Given the description of an element on the screen output the (x, y) to click on. 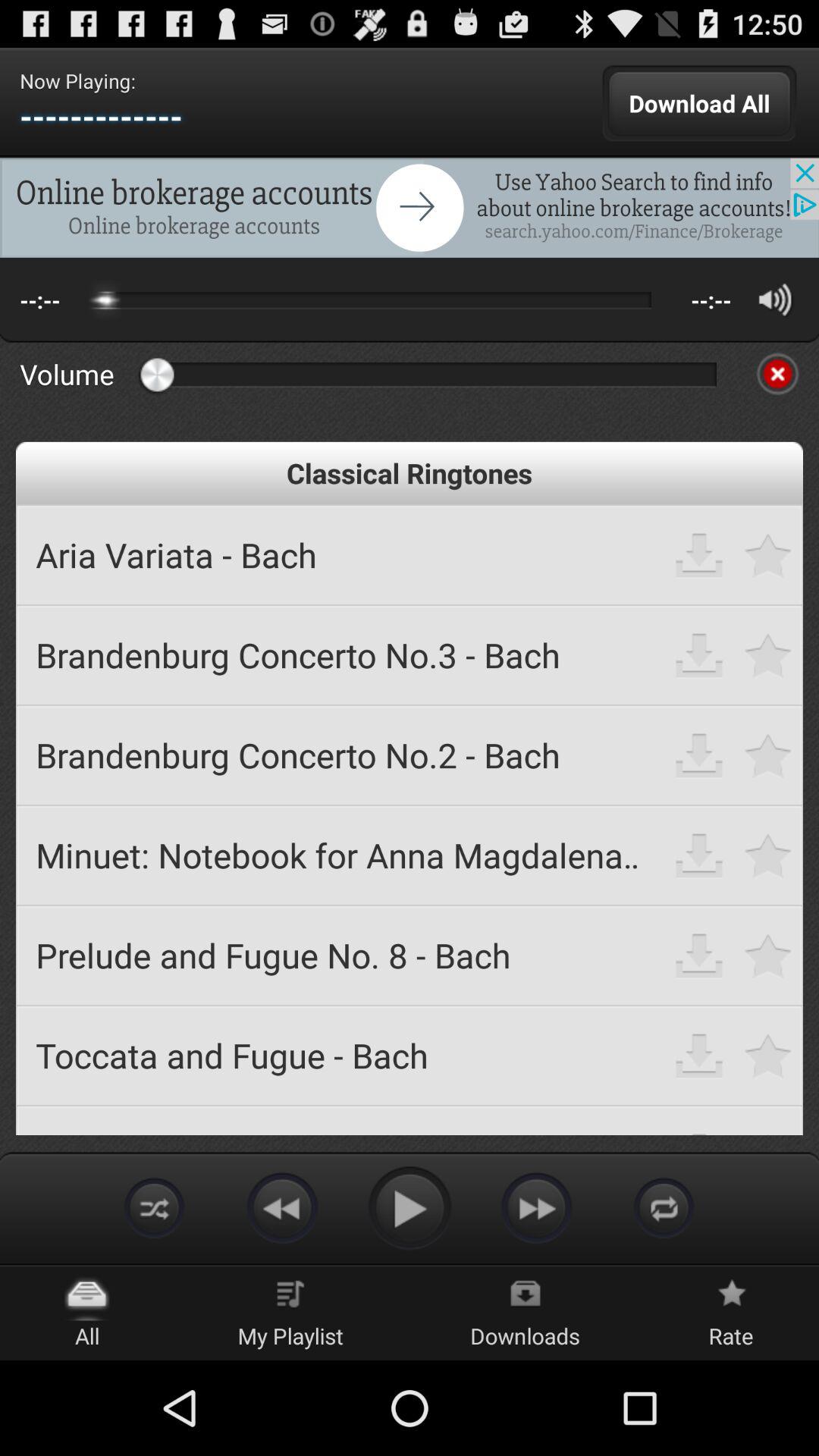
select favorite (768, 554)
